Given the description of an element on the screen output the (x, y) to click on. 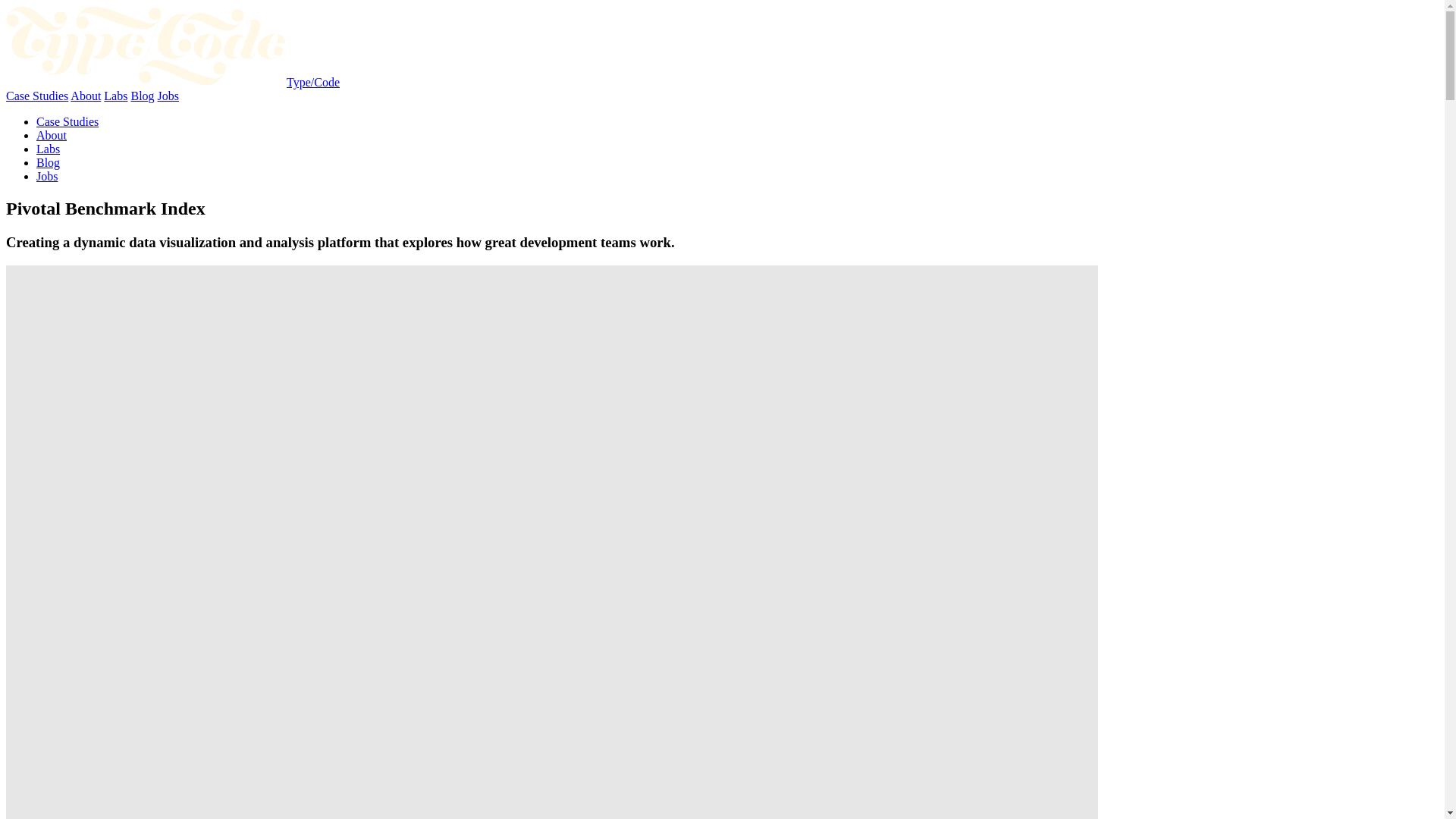
Labs (47, 148)
Case Studies (36, 95)
Labs (115, 95)
Blog (142, 95)
About (84, 95)
Case Studies (67, 121)
Jobs (47, 175)
Blog (47, 162)
Jobs (168, 95)
About (51, 134)
